Given the description of an element on the screen output the (x, y) to click on. 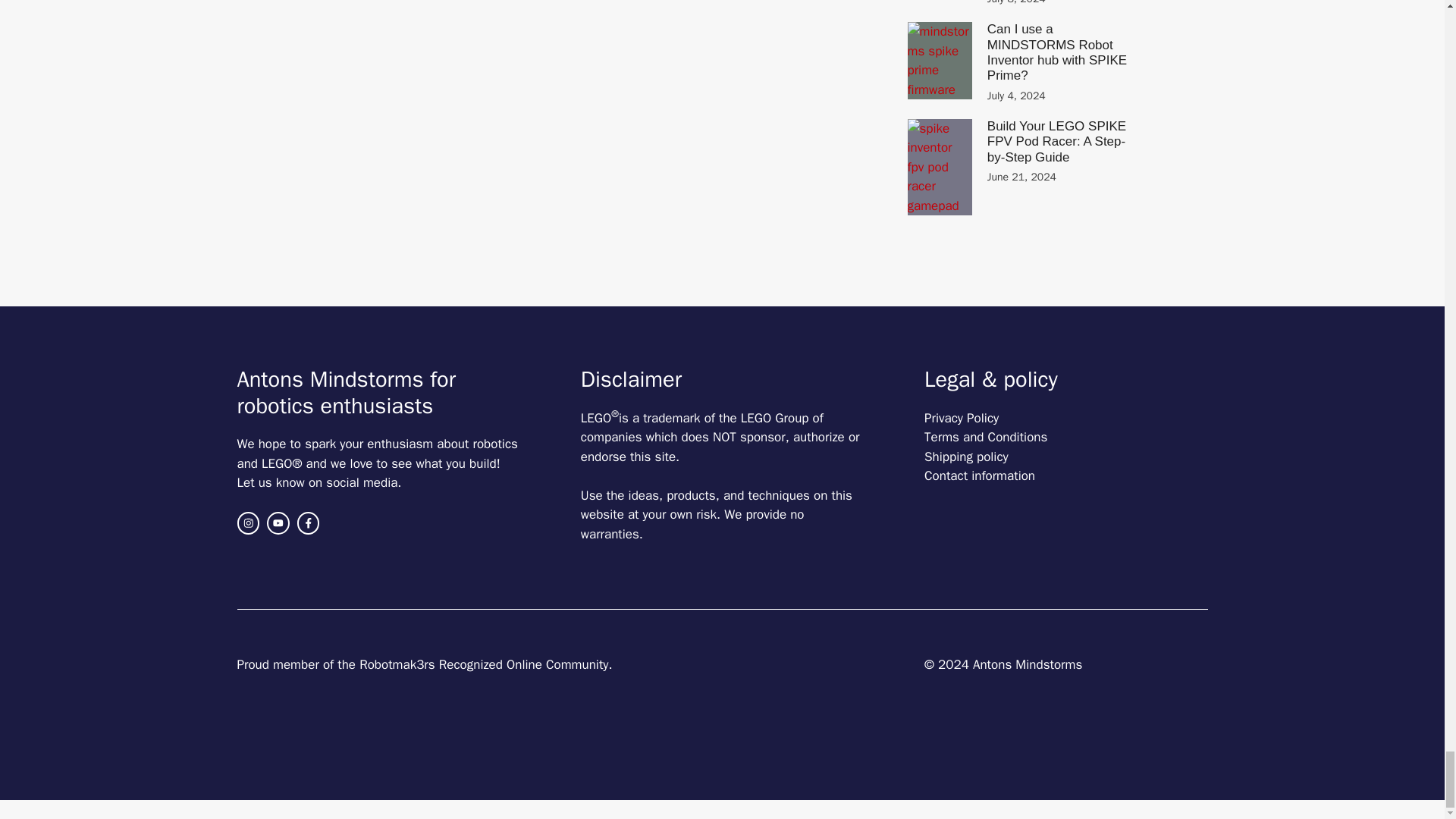
Comment Form (579, 112)
